Given the description of an element on the screen output the (x, y) to click on. 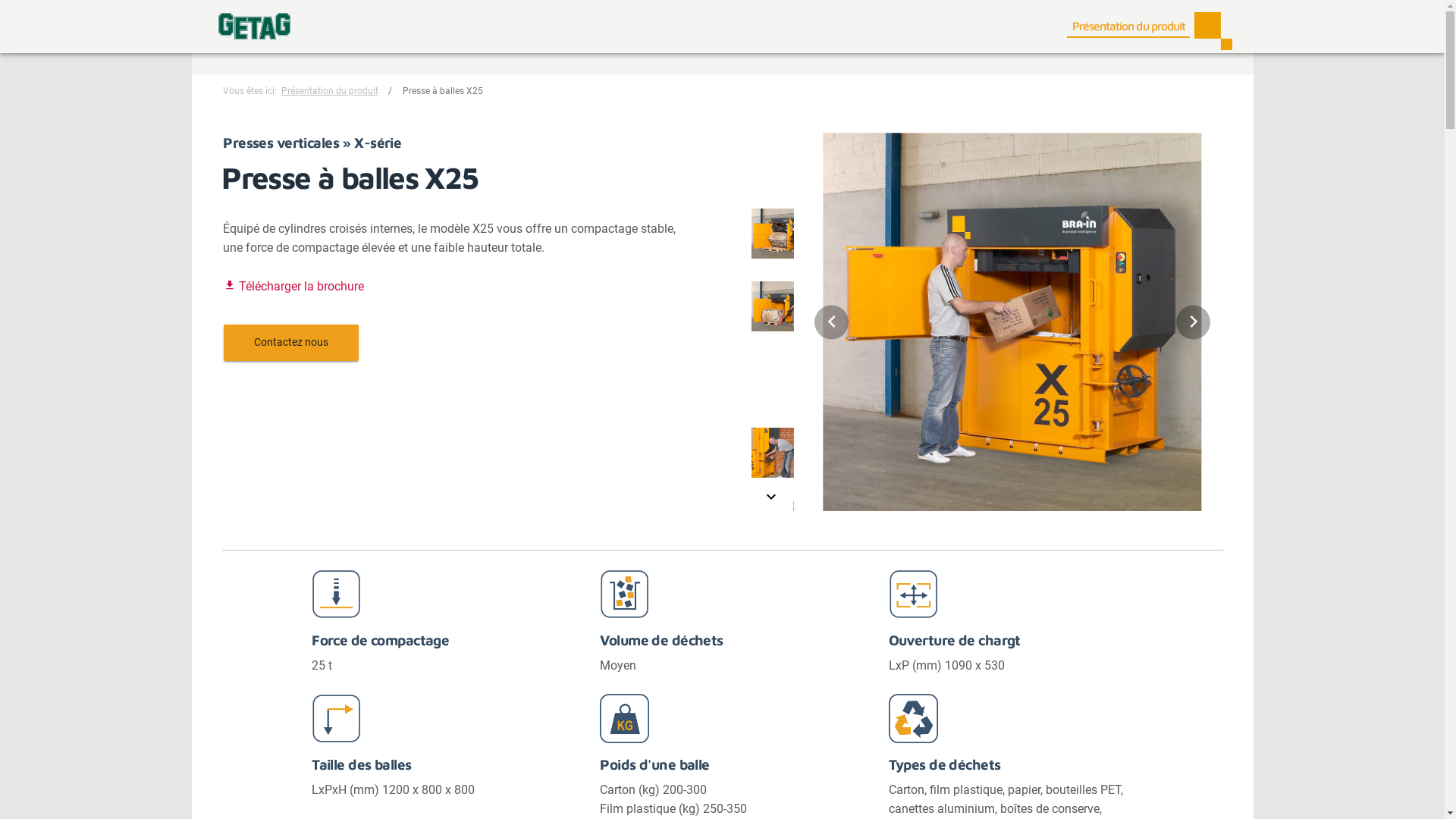
navigate_next Element type: text (1193, 321)
Contactez nous Element type: text (289, 341)
expand_more Element type: text (770, 499)
search Element type: text (1208, 26)
navigate_before Element type: text (831, 321)
